Given the description of an element on the screen output the (x, y) to click on. 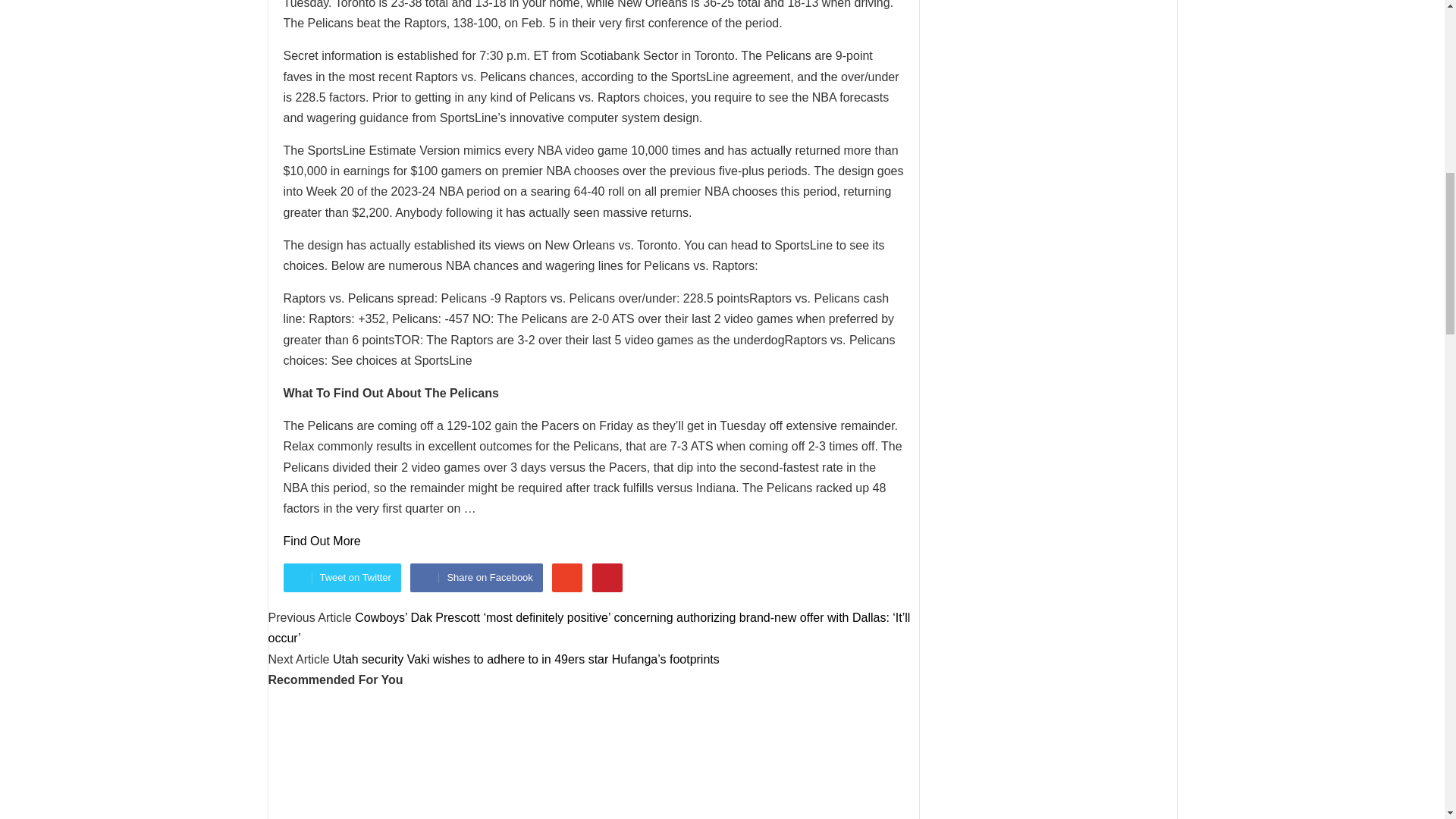
Share on Facebook (475, 577)
Find Out More (322, 540)
Tweet on Twitter (342, 577)
Pinterest (607, 577)
